Given the description of an element on the screen output the (x, y) to click on. 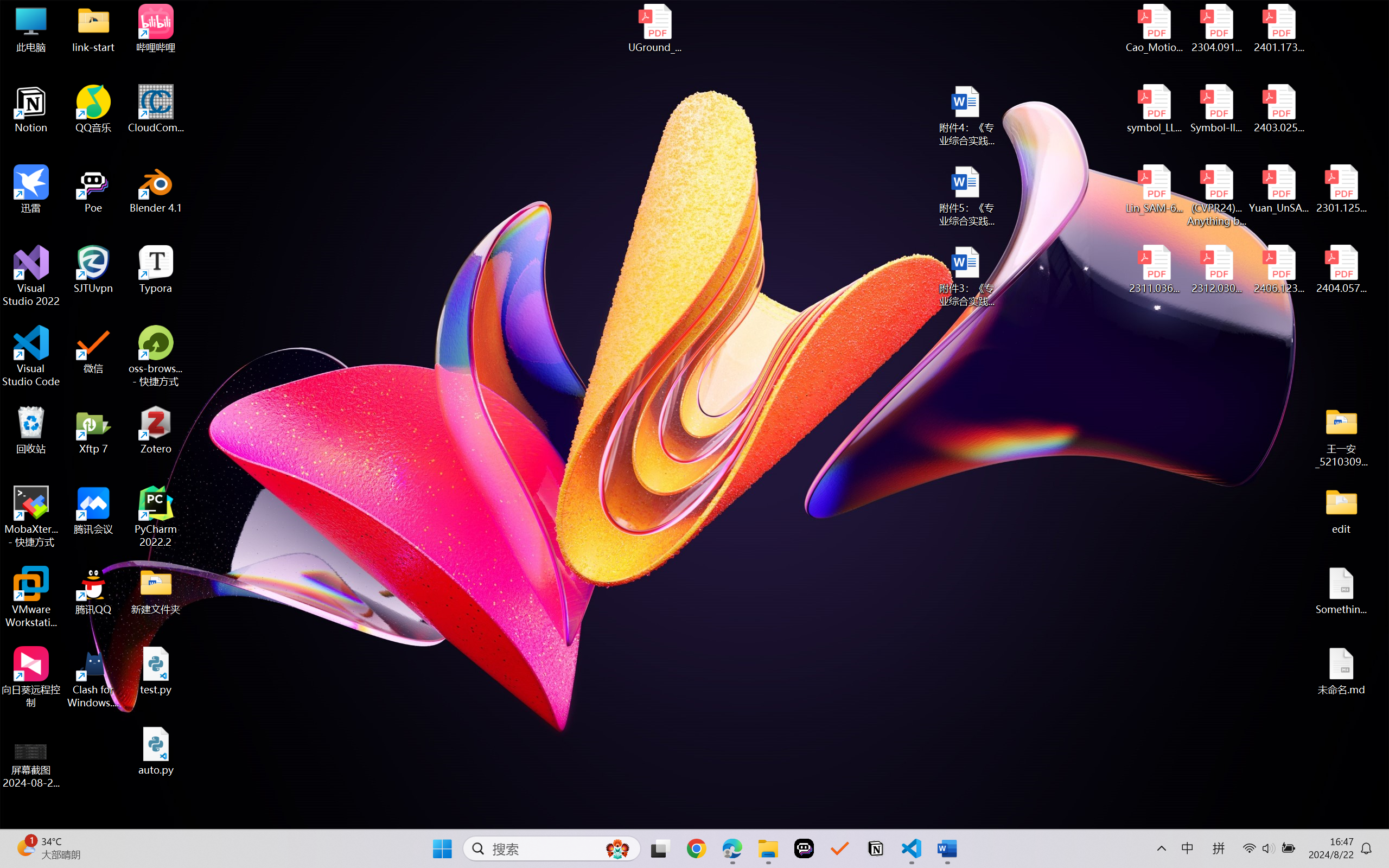
Typora (156, 269)
UGround_paper.pdf (654, 28)
VMware Workstation Pro (31, 597)
edit (1340, 510)
symbol_LLM.pdf (1154, 109)
Google Chrome (696, 848)
